Given the description of an element on the screen output the (x, y) to click on. 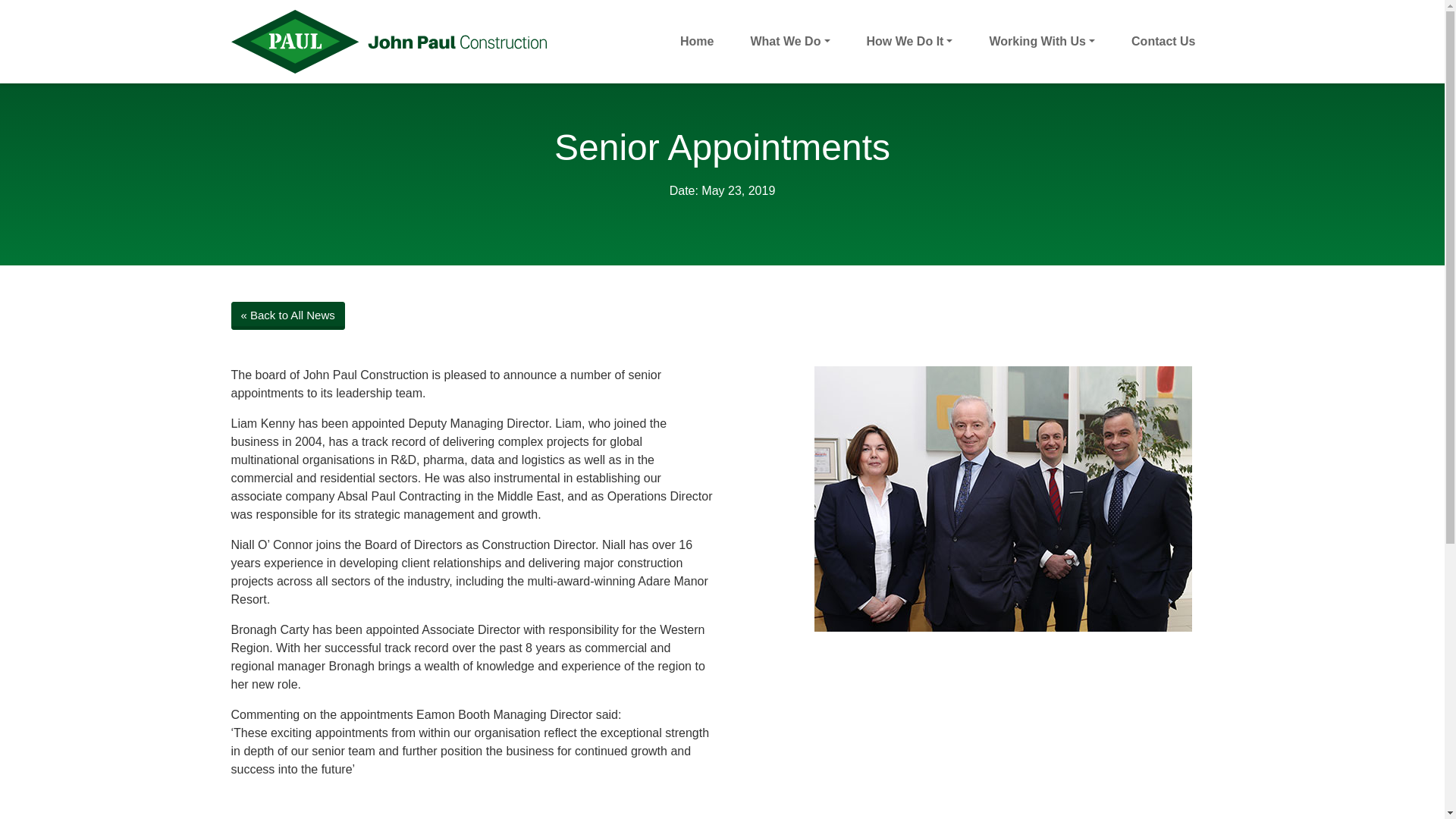
Home (696, 41)
Working With Us (1041, 41)
How We Do It (908, 41)
Contact Us (1163, 41)
What We Do (789, 41)
